Given the description of an element on the screen output the (x, y) to click on. 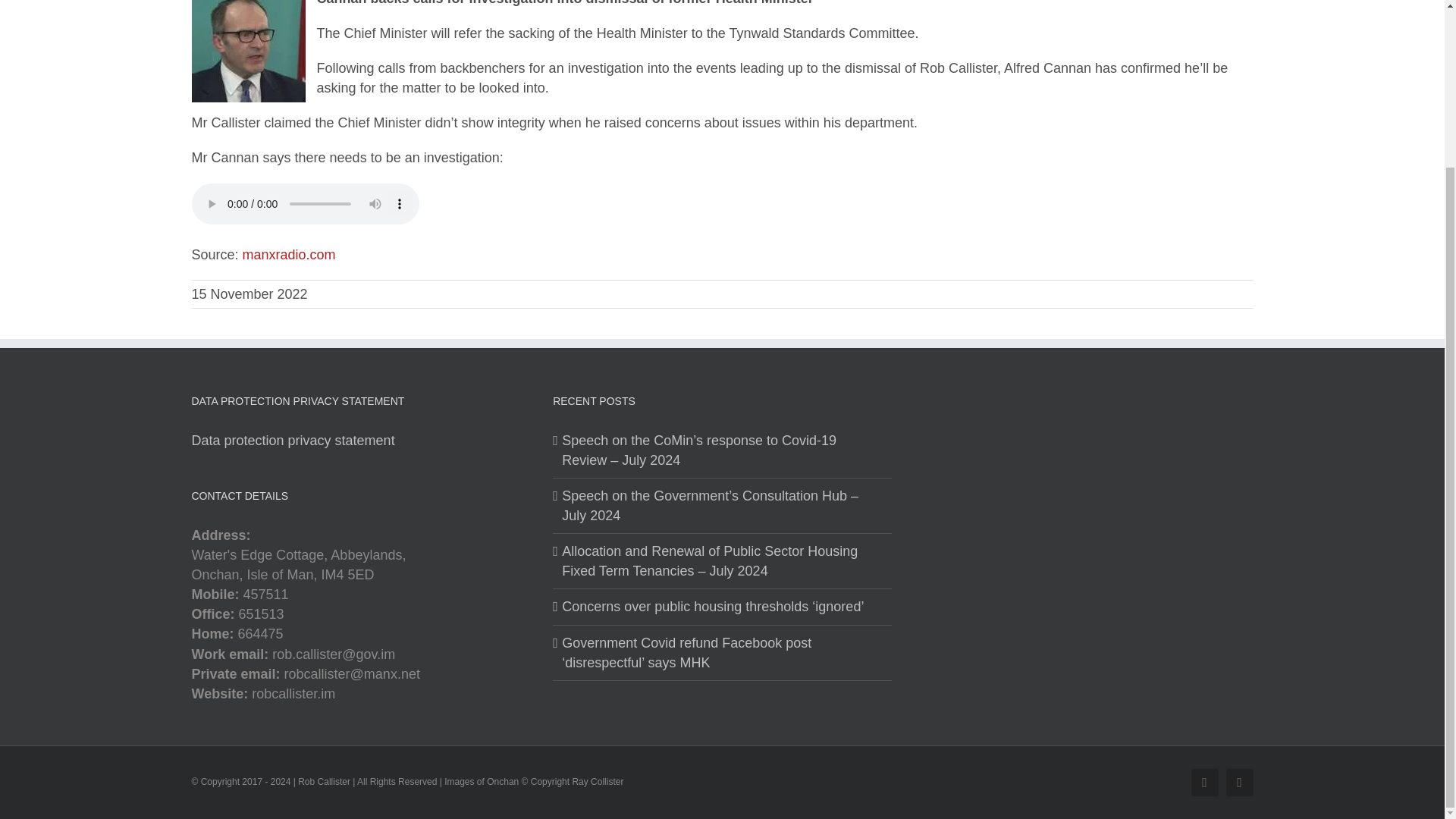
X (1238, 782)
Facebook (1204, 782)
